Given the description of an element on the screen output the (x, y) to click on. 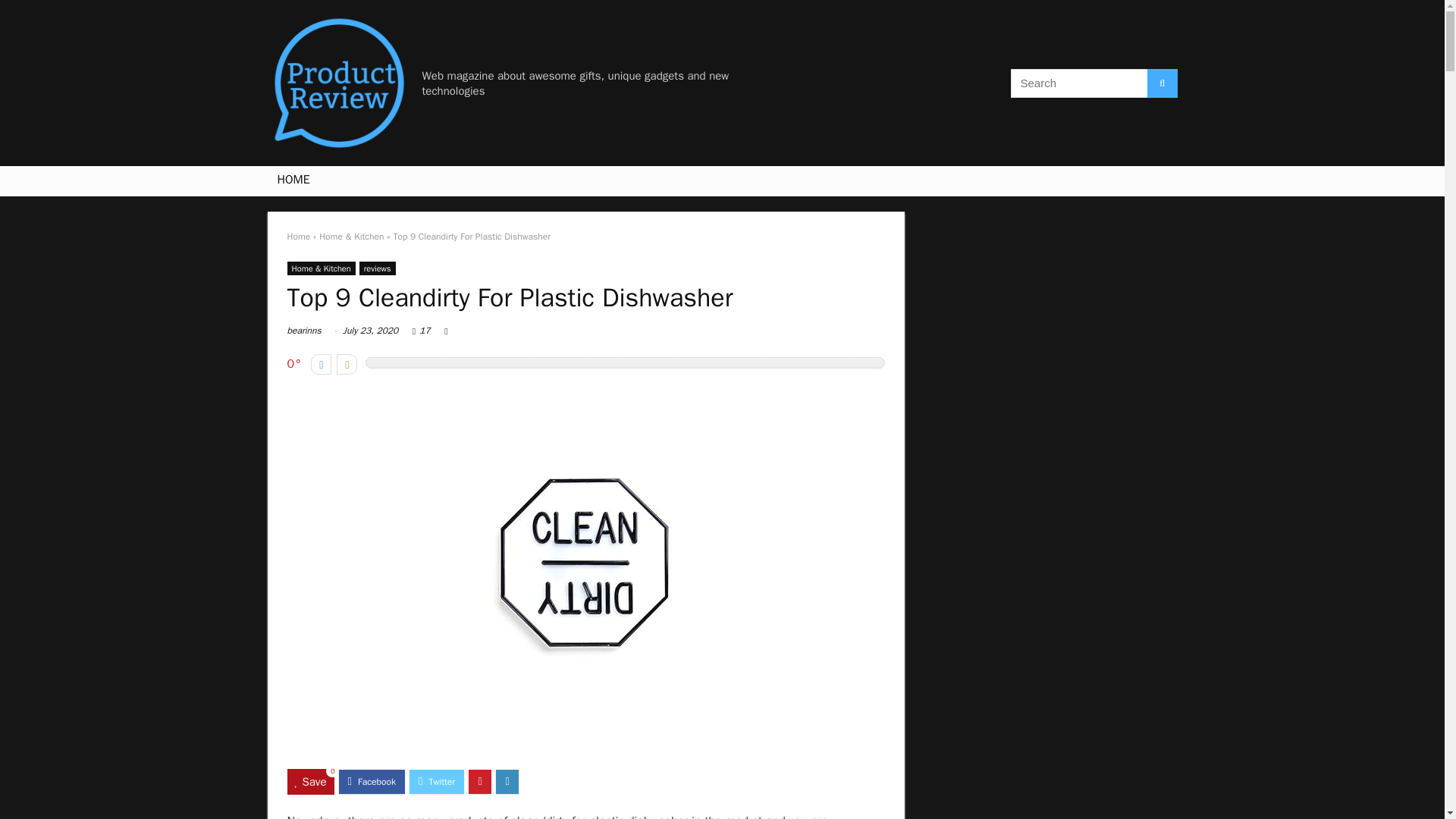
bearinns (303, 330)
Home (298, 236)
HOME (292, 181)
Vote down (321, 363)
reviews (377, 268)
Vote up (346, 363)
View all posts in reviews (377, 268)
